Given the description of an element on the screen output the (x, y) to click on. 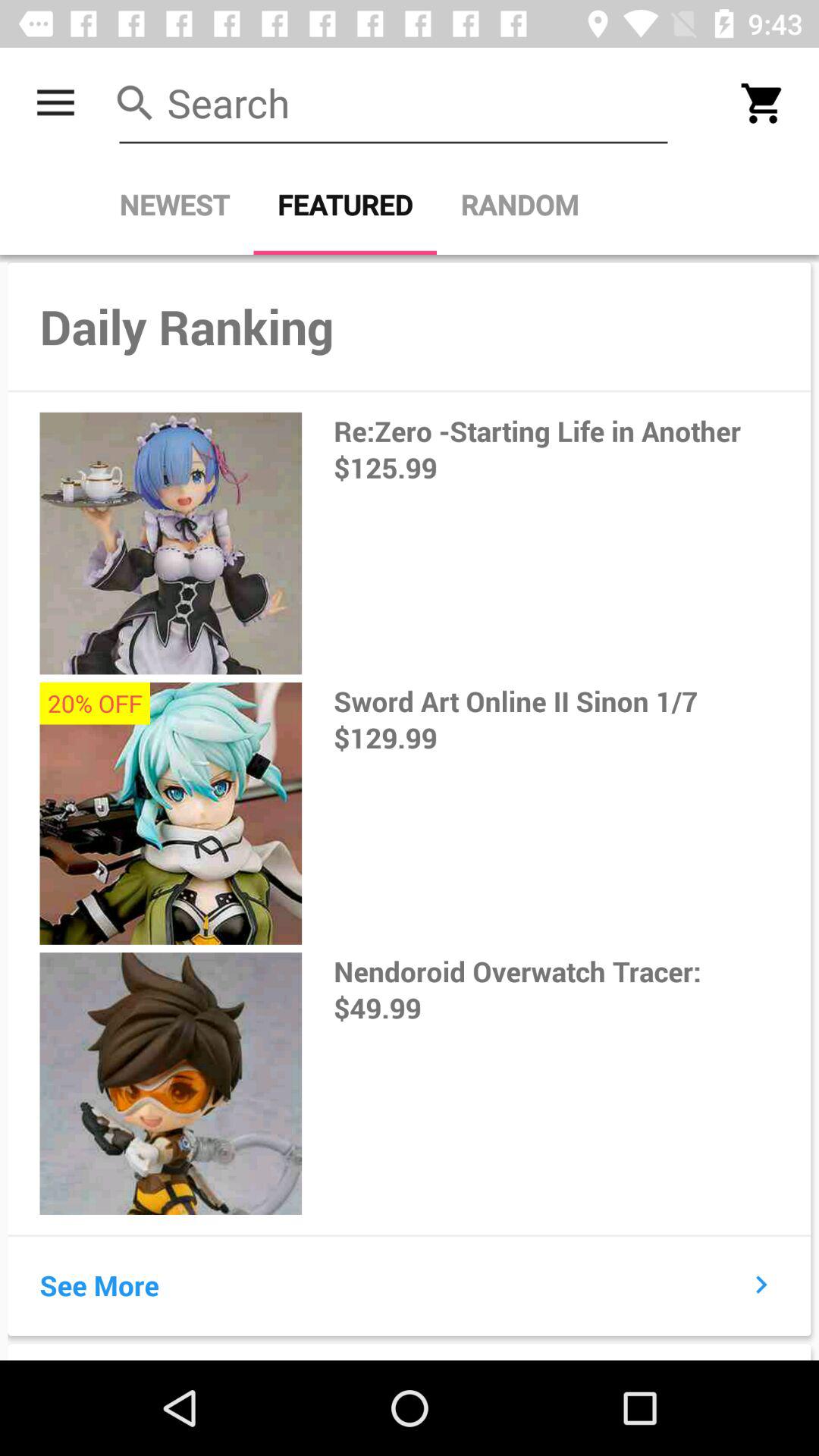
turn off item to the right of the featured (519, 204)
